Given the description of an element on the screen output the (x, y) to click on. 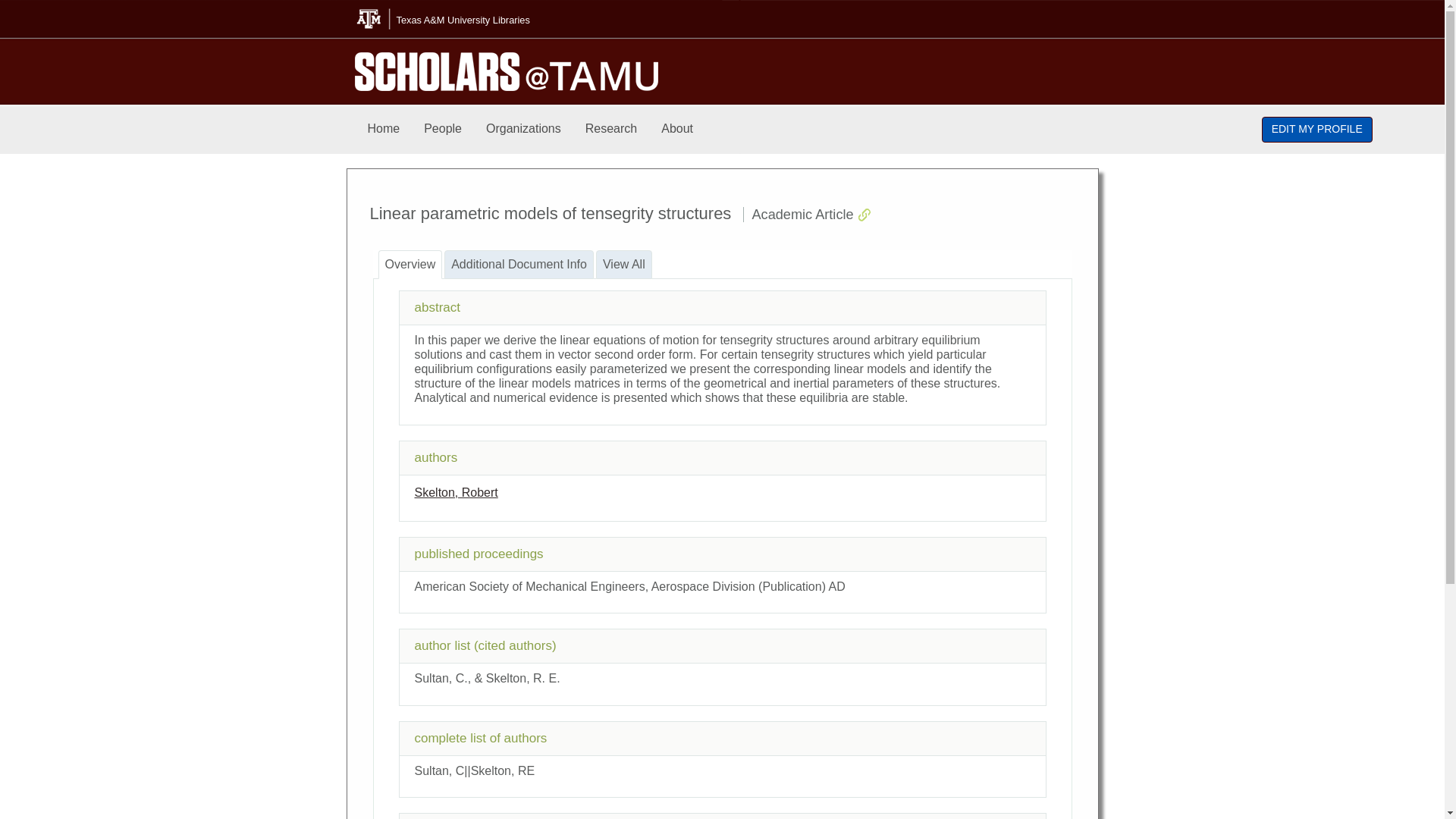
author name (455, 492)
Organizations (523, 128)
Home (383, 128)
Research menu item (611, 128)
About menu item (676, 128)
Home menu item (383, 128)
People (443, 128)
Research (611, 128)
Organizations menu item (523, 128)
Skelton, Robert (455, 492)
